Given the description of an element on the screen output the (x, y) to click on. 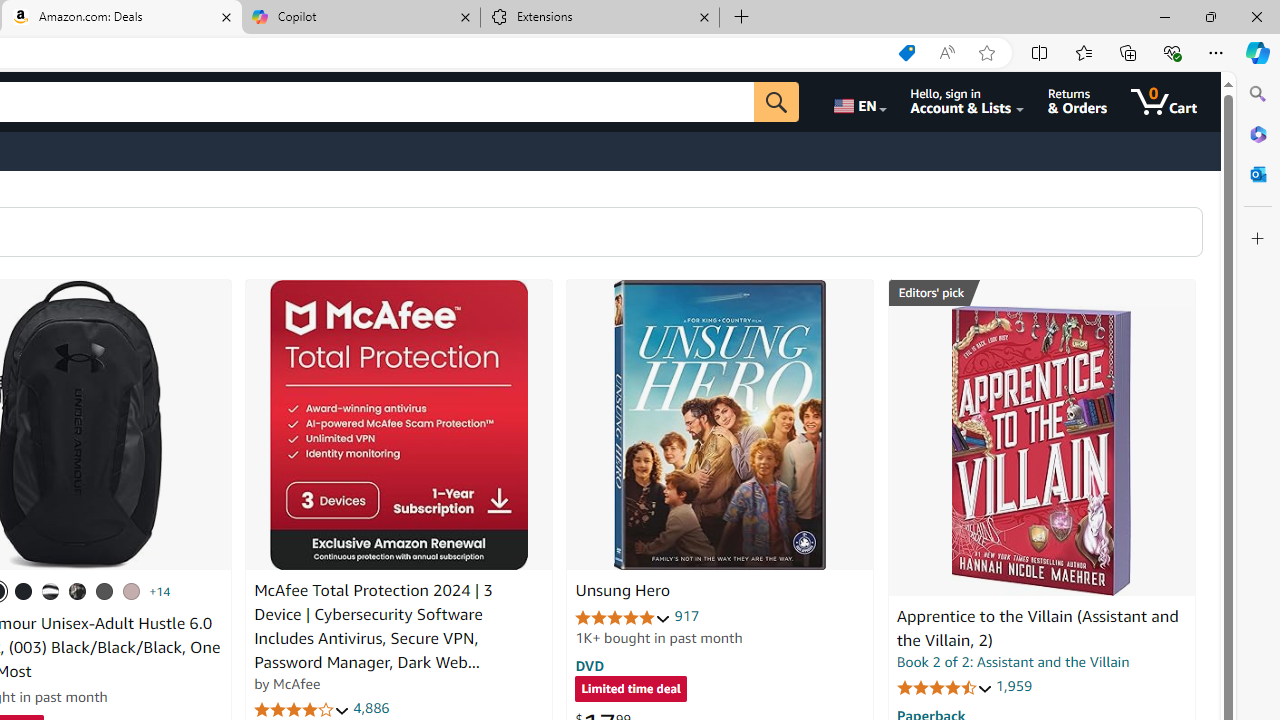
Extensions (600, 17)
+14 (159, 591)
